Given the description of an element on the screen output the (x, y) to click on. 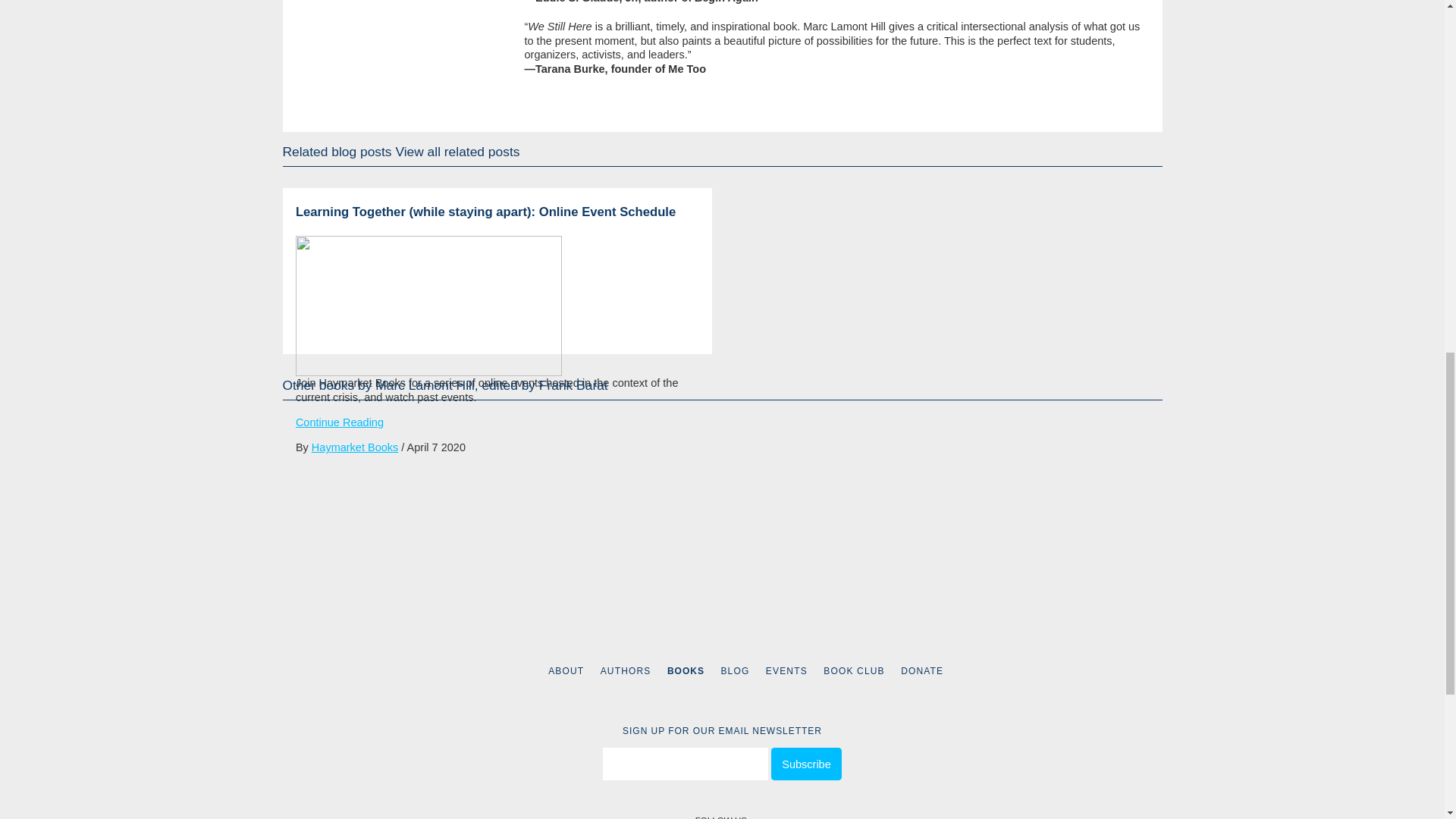
View all related posts (456, 151)
Haymarket Books (354, 447)
Subscribe (806, 764)
Continue Reading (339, 422)
